Given the description of an element on the screen output the (x, y) to click on. 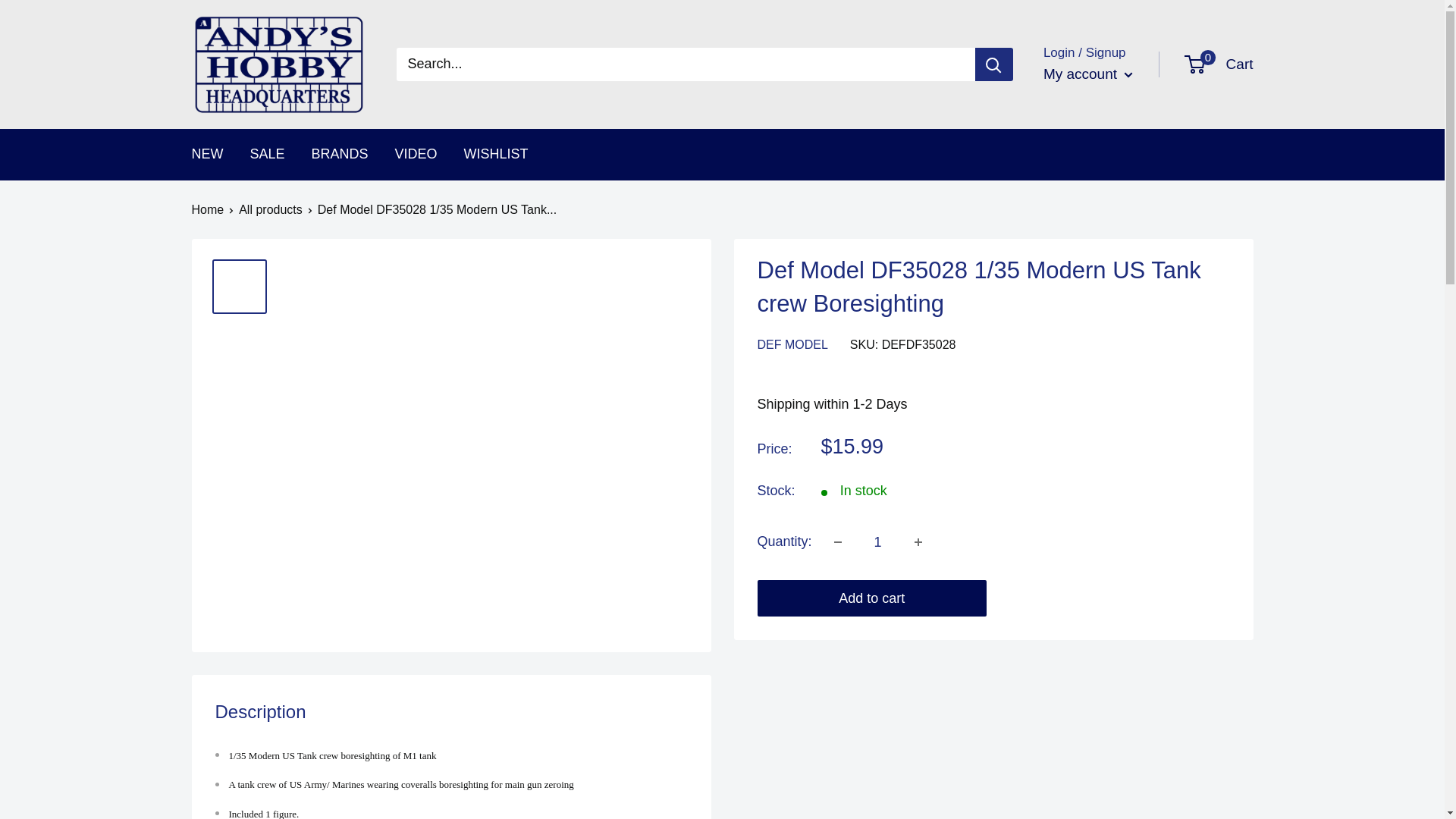
Add to cart (872, 597)
Increase quantity by 1 (918, 541)
DEF MODEL (792, 344)
My account (1087, 73)
SALE (267, 154)
All products (270, 209)
VIDEO (416, 154)
AndysHHQ (277, 64)
NEW (206, 154)
BRANDS (339, 154)
